Given the description of an element on the screen output the (x, y) to click on. 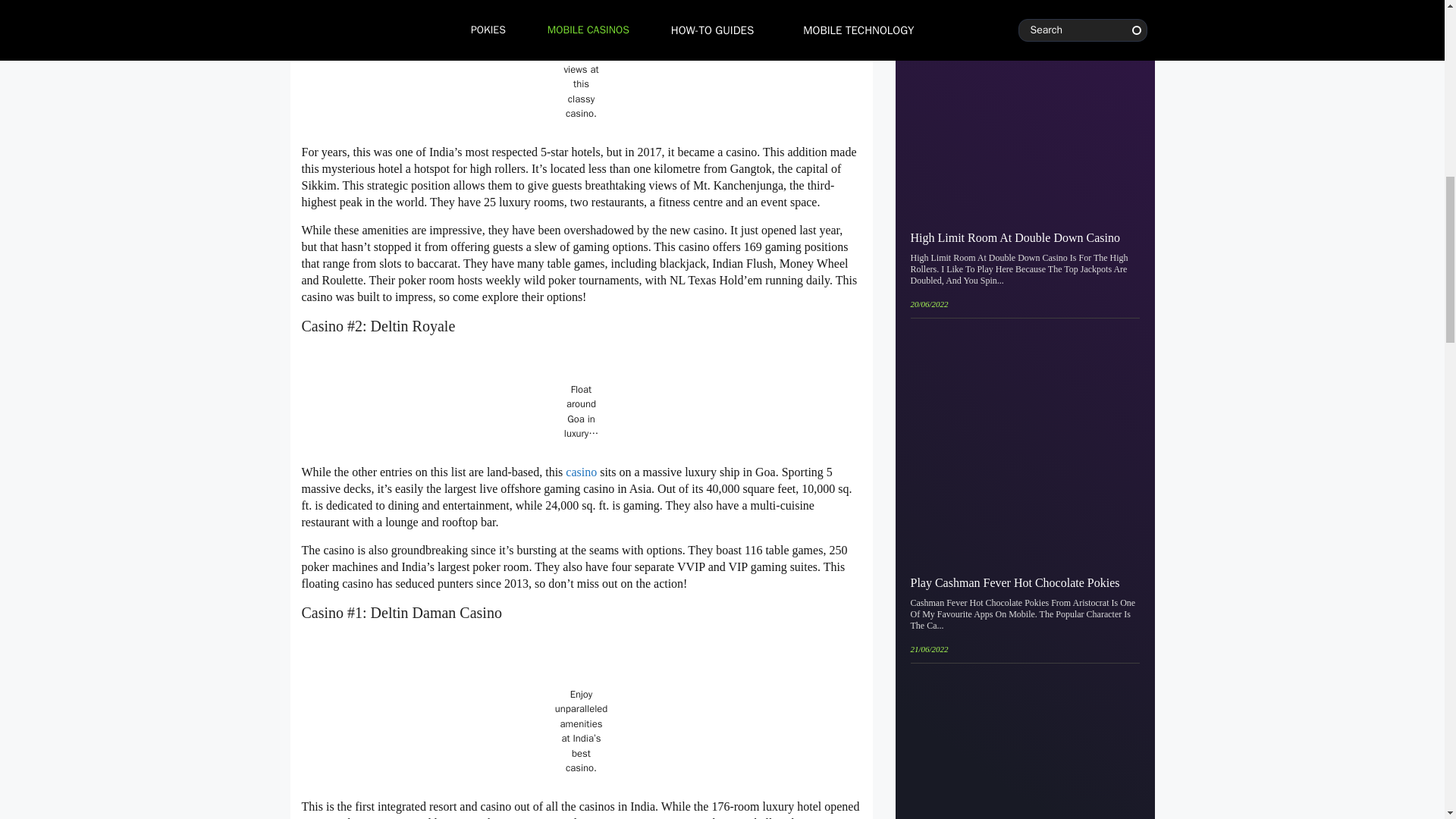
casino (582, 472)
